Given the description of an element on the screen output the (x, y) to click on. 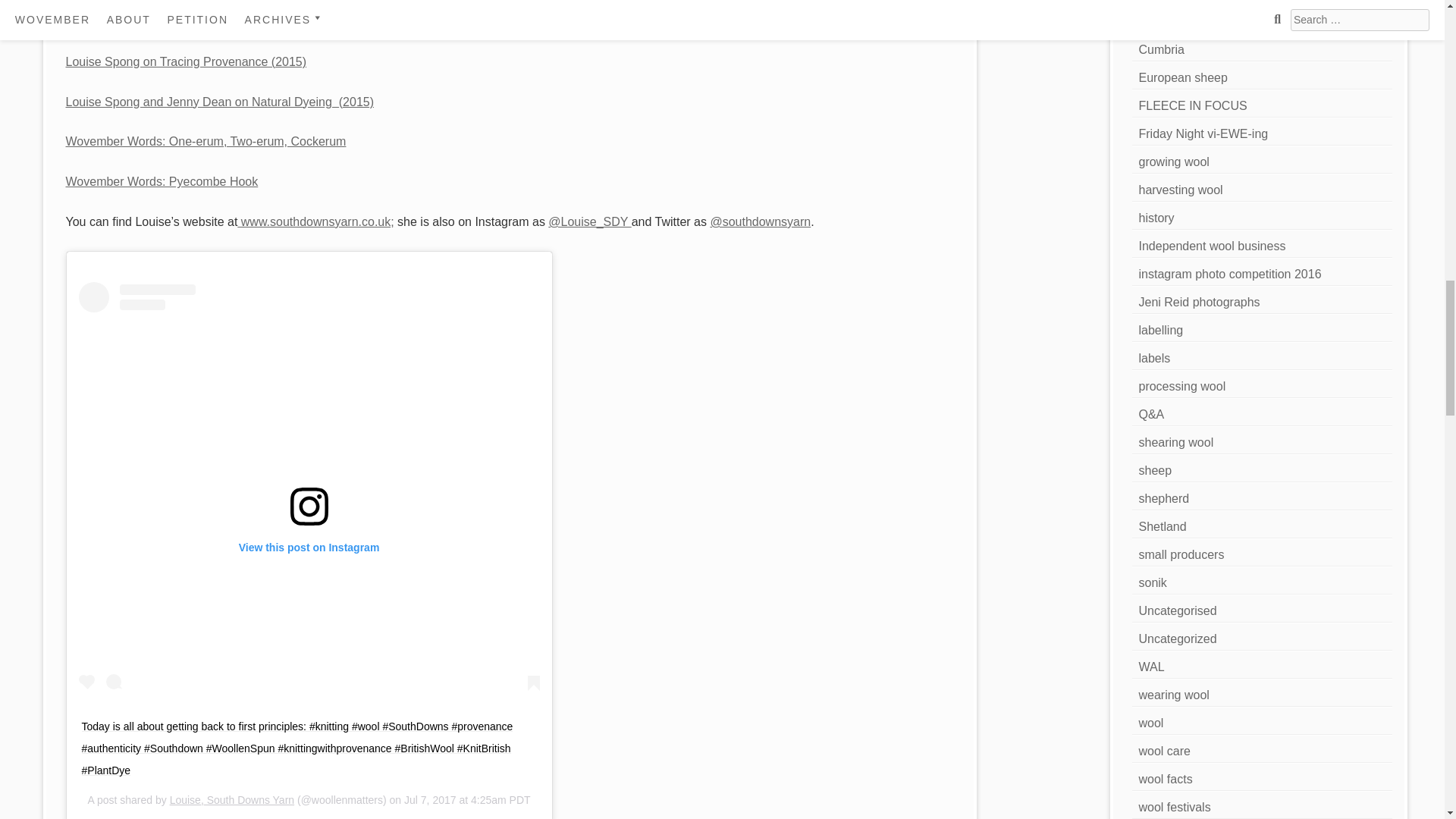
www.southdownsyarn.co.uk; (315, 221)
Wovember Words: One-erum, Two-erum, Cockerum (205, 141)
Wovember Words: Pyecombe Hook (162, 181)
Louise, South Downs Yarn (232, 799)
